Given the description of an element on the screen output the (x, y) to click on. 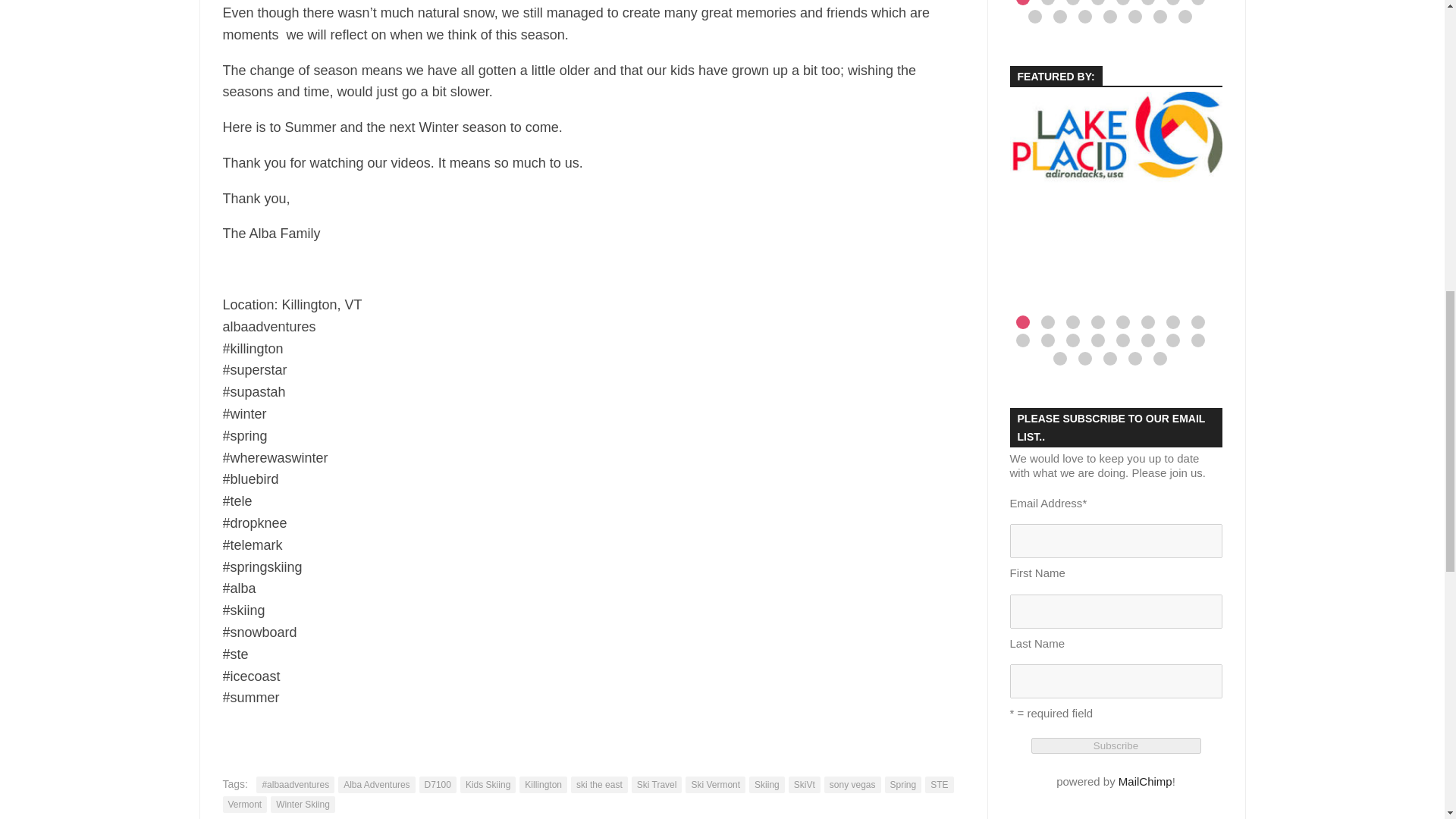
Subscribe (1115, 745)
